Given the description of an element on the screen output the (x, y) to click on. 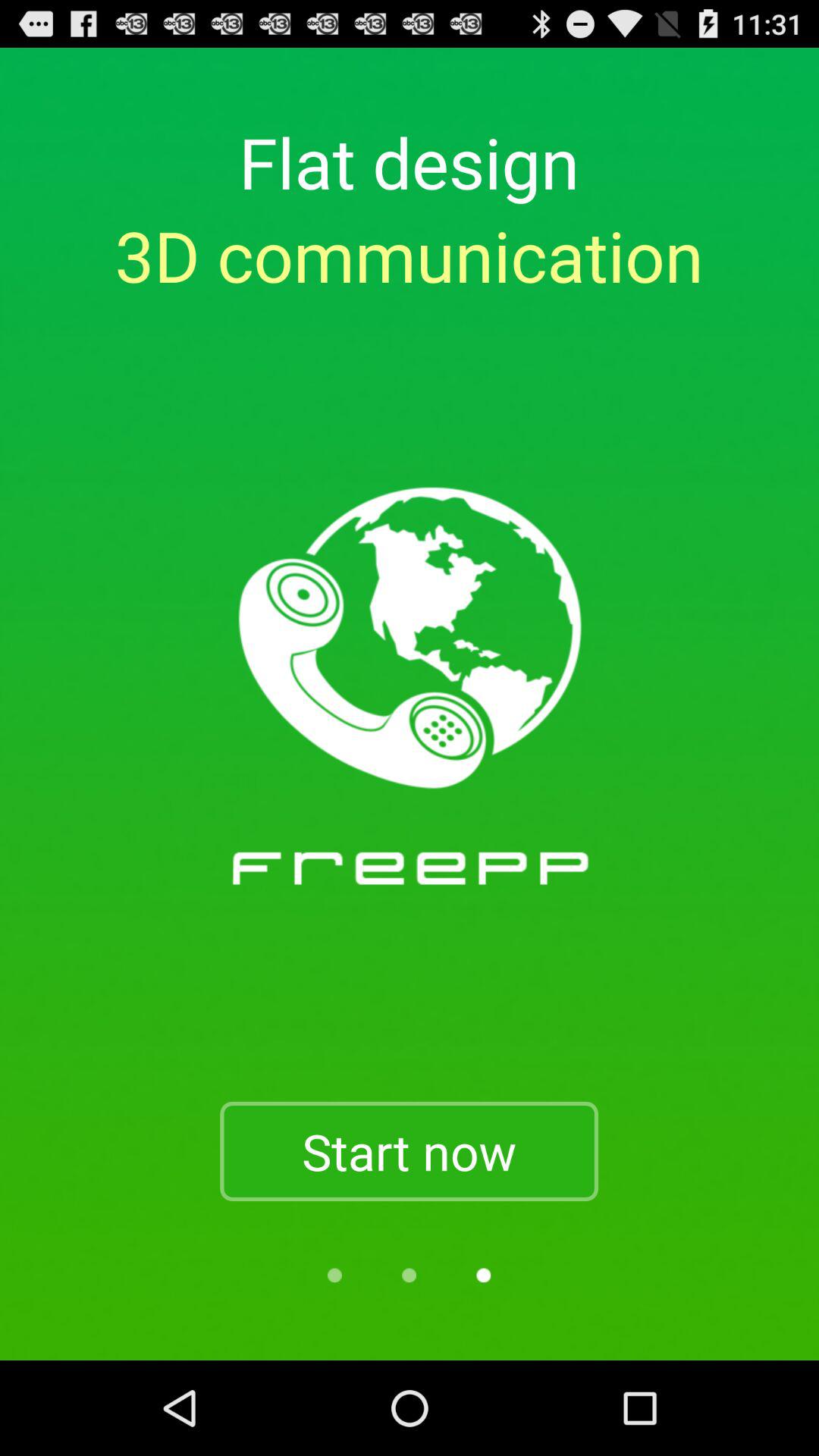
go to next (483, 1275)
